Given the description of an element on the screen output the (x, y) to click on. 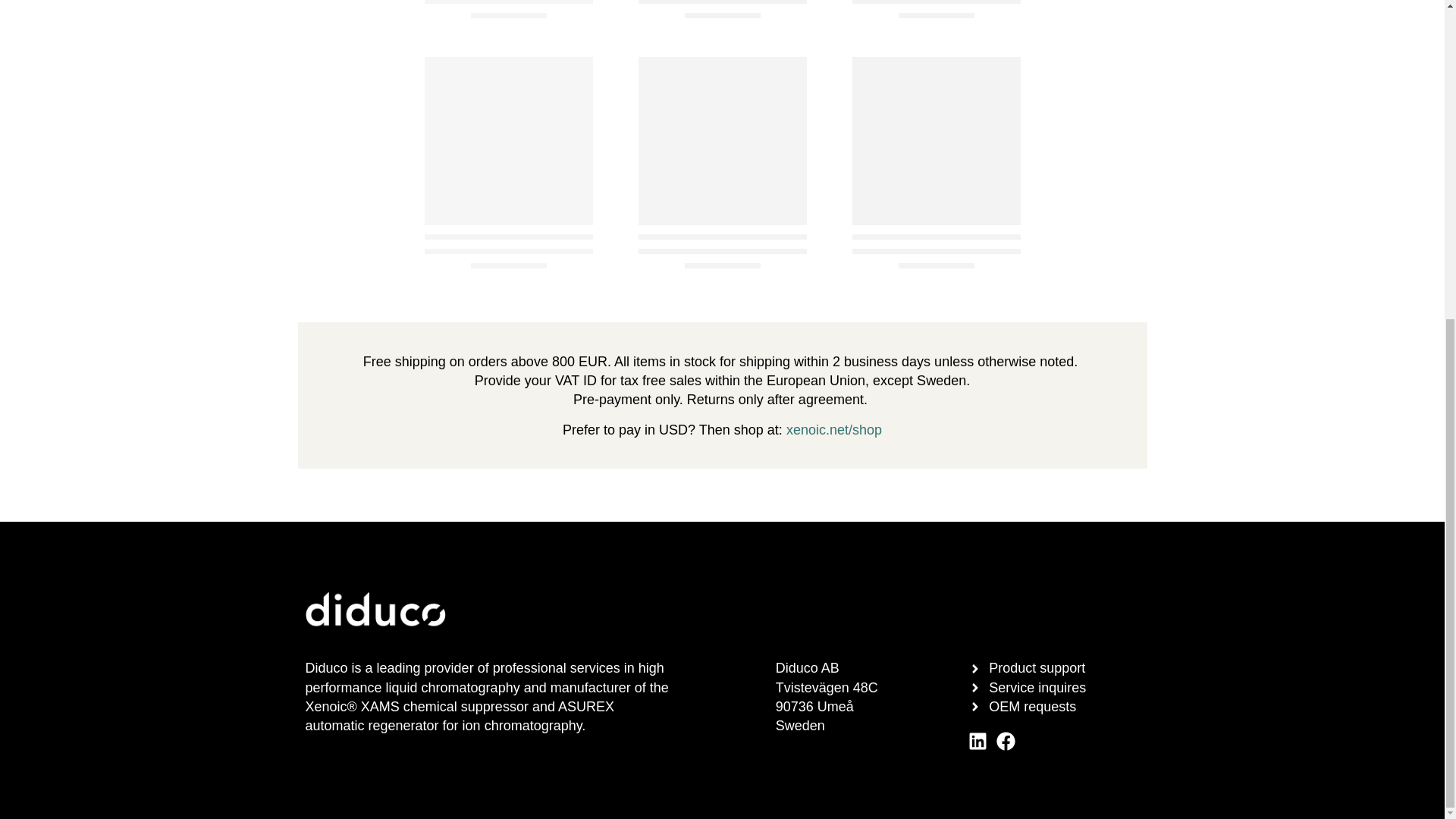
OEM requests (1050, 706)
Product support (1050, 668)
Service inquires (1050, 687)
